Given the description of an element on the screen output the (x, y) to click on. 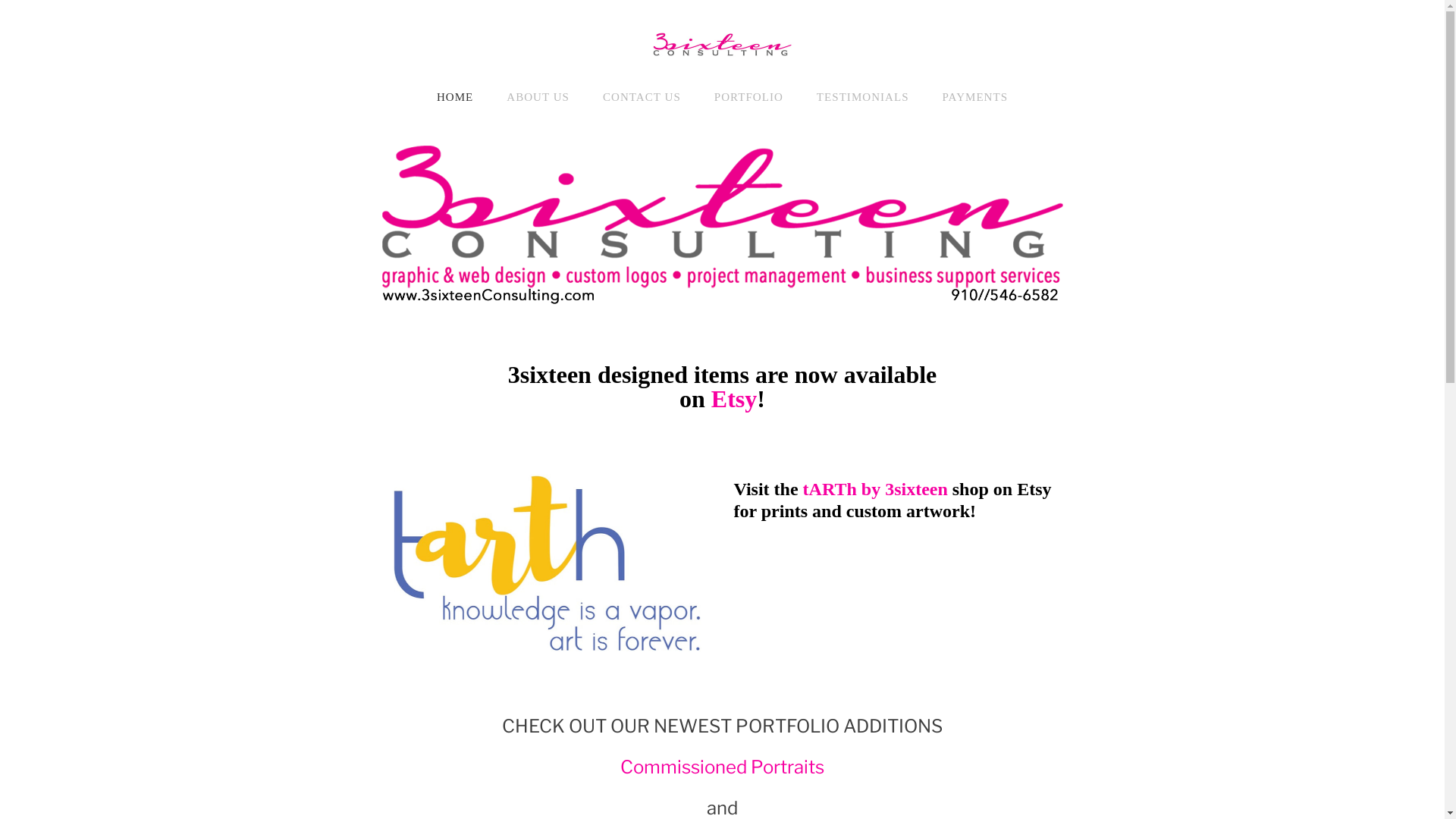
PAYMENTS Element type: text (975, 97)
CONTACT US Element type: text (641, 97)
HOME Element type: text (454, 97)
tARTh by 3sixteen Element type: text (875, 488)
Etsy Element type: text (733, 398)
PORTFOLIO Element type: text (748, 97)
ABOUT US Element type: text (537, 97)
Commissioned Portraits Element type: text (722, 766)
TESTIMONIALS Element type: text (862, 97)
